Given the description of an element on the screen output the (x, y) to click on. 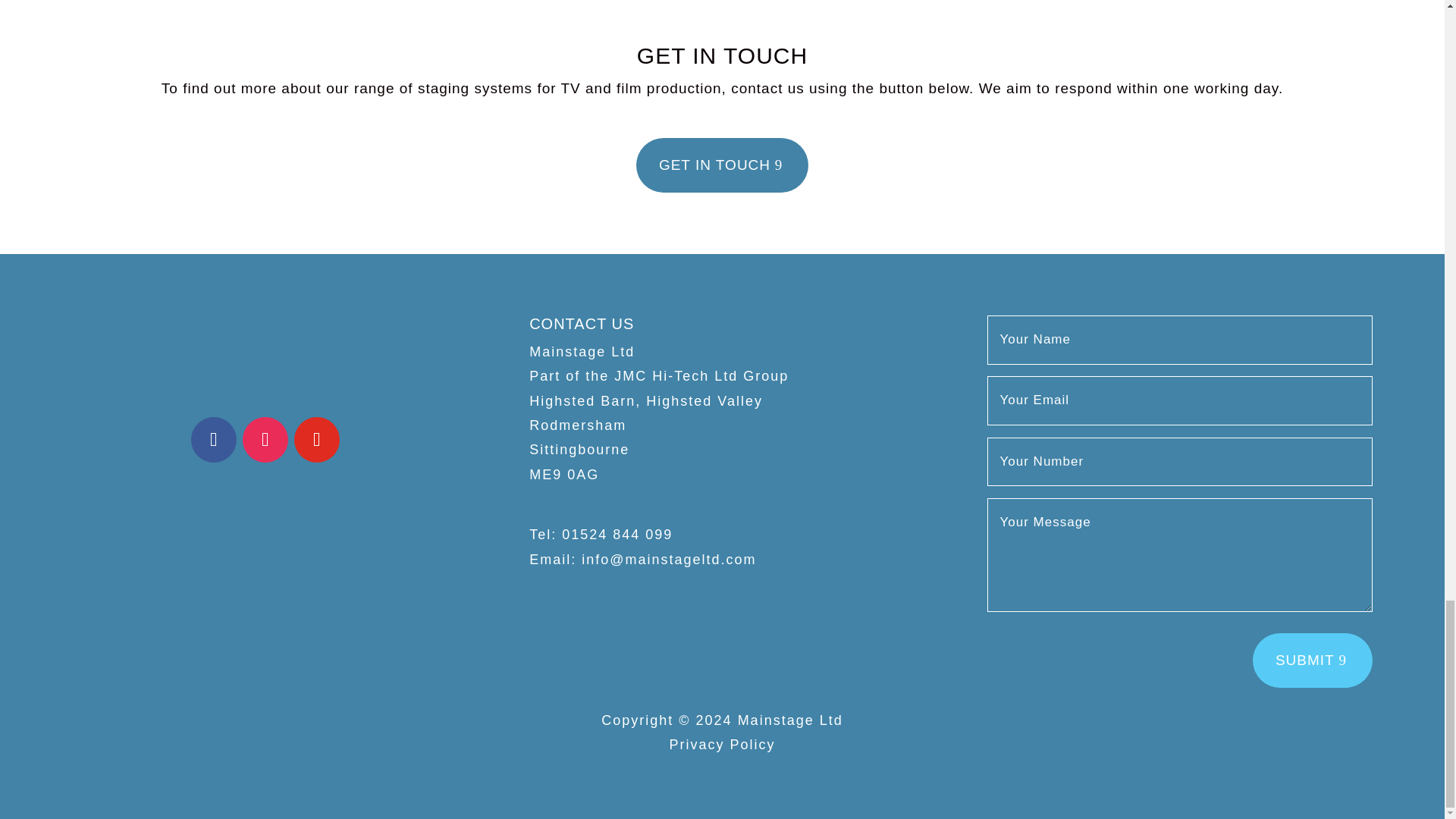
Follow on Youtube (316, 439)
Only numbers allowed. (1180, 461)
Follow on Facebook (212, 439)
Follow on Instagram (265, 439)
